Given the description of an element on the screen output the (x, y) to click on. 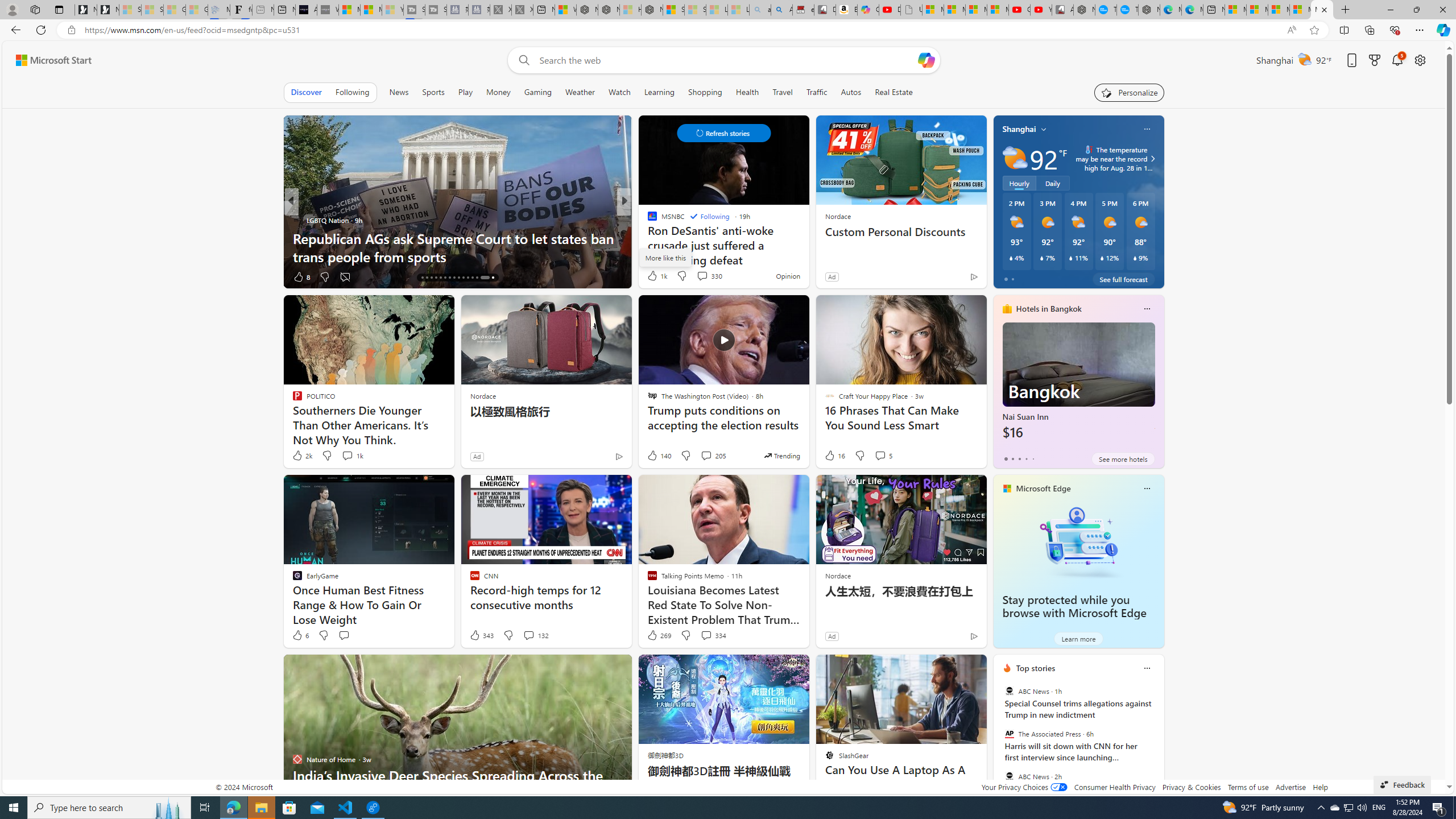
AutomationID: tab-22 (449, 277)
View comments 353 Comment (6, 276)
Hotels in Bangkok (1048, 308)
next (1158, 741)
Shopping (705, 92)
Copilot (868, 9)
